Given the description of an element on the screen output the (x, y) to click on. 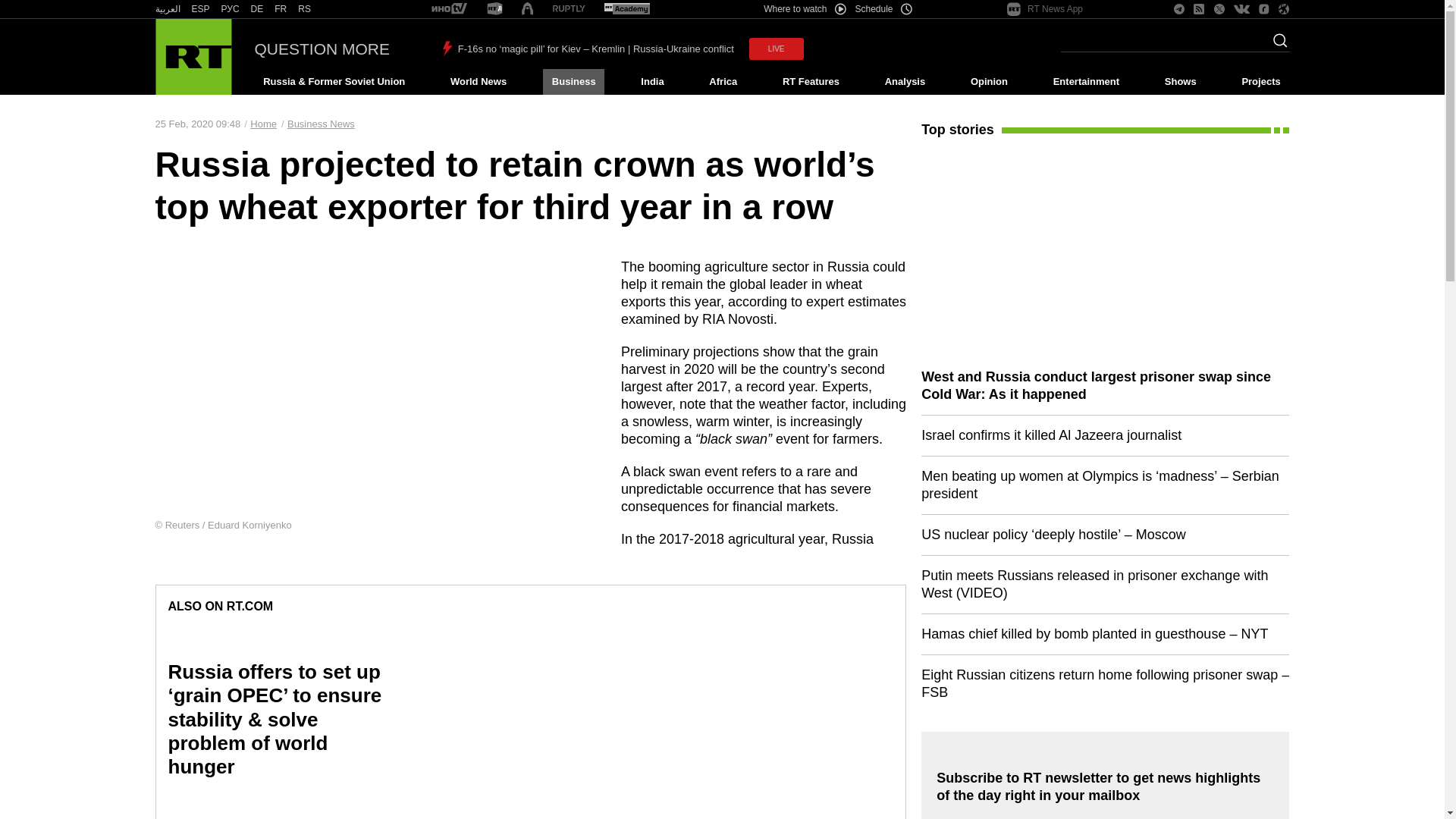
DE (256, 9)
Entertainment (1085, 81)
India (651, 81)
World News (478, 81)
RT  (230, 9)
RT  (280, 9)
RT  (448, 9)
LIVE (776, 48)
RT News App (1045, 9)
RT  (494, 9)
Where to watch (803, 9)
RS (304, 9)
RT  (569, 8)
ESP (199, 9)
RT Features (810, 81)
